Given the description of an element on the screen output the (x, y) to click on. 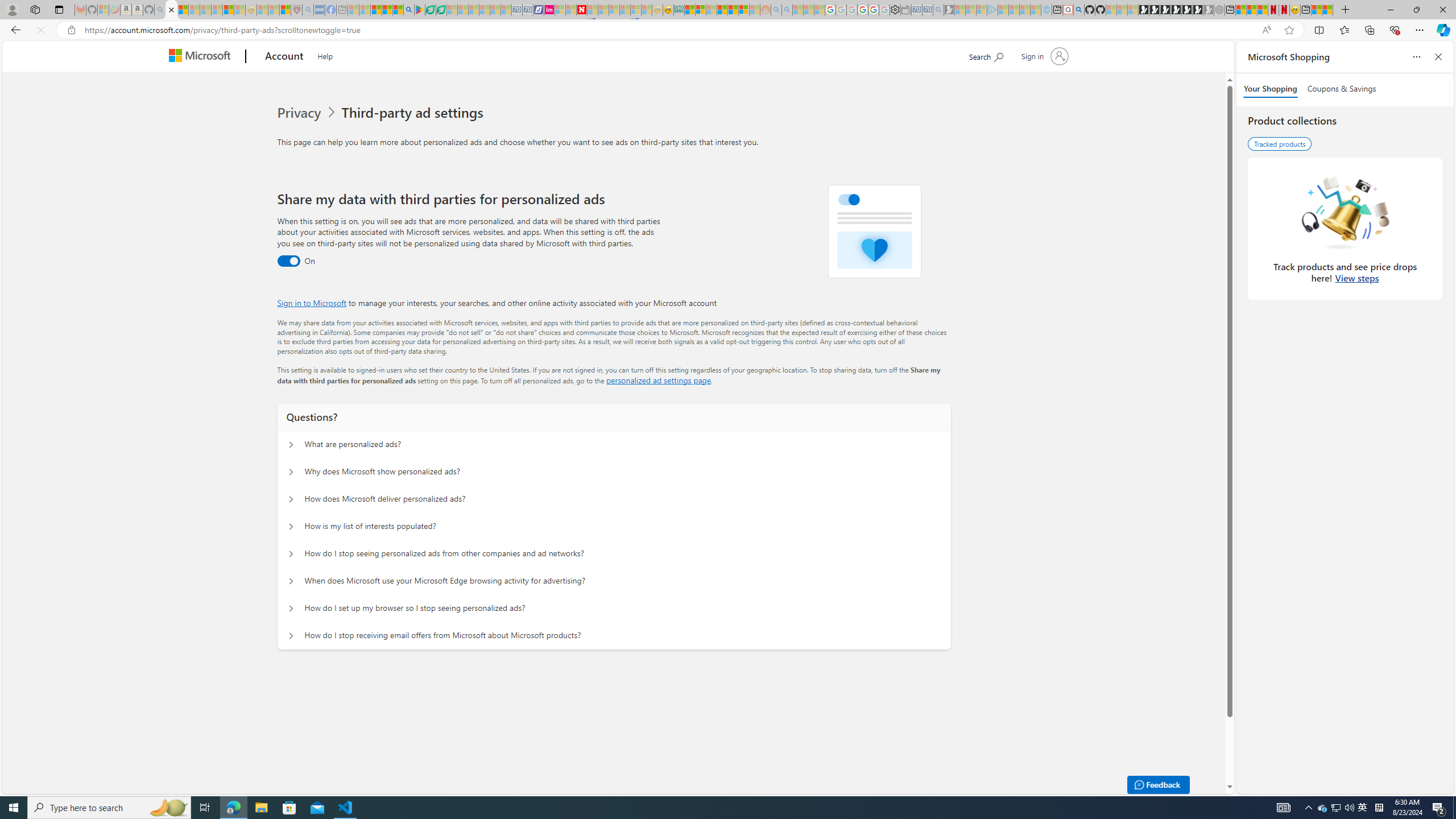
Pets - MSN (387, 9)
Latest Politics News & Archive | Newsweek.com (582, 9)
